Given the description of an element on the screen output the (x, y) to click on. 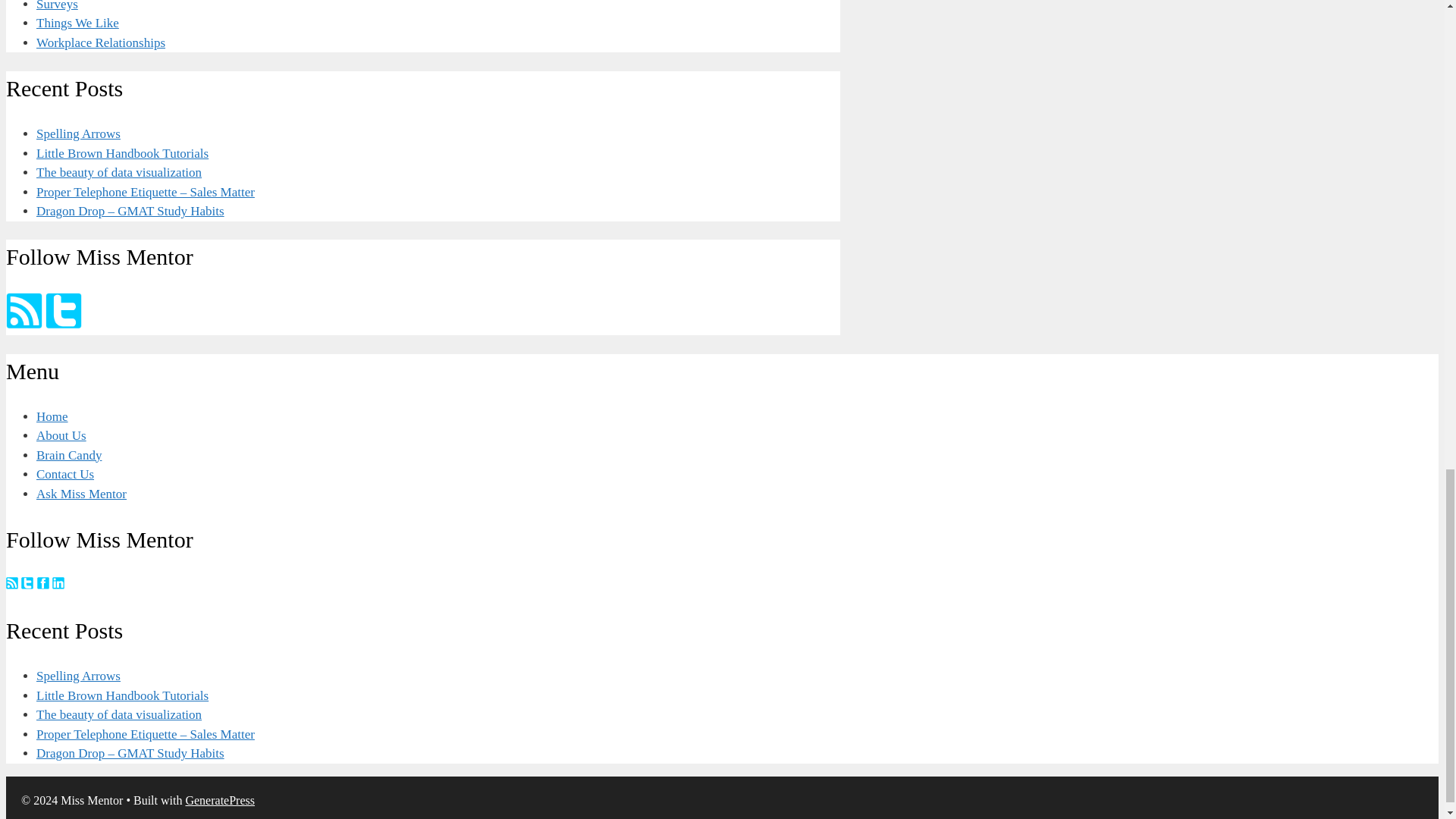
Contact Us (65, 473)
twitter (63, 310)
Things We Like (77, 22)
Ask Miss Mentor (81, 493)
twitter (27, 582)
Spelling Arrows (78, 133)
Little Brown Handbook Tutorials (122, 153)
About Us (60, 435)
Surveys (57, 5)
Home (52, 416)
